Given the description of an element on the screen output the (x, y) to click on. 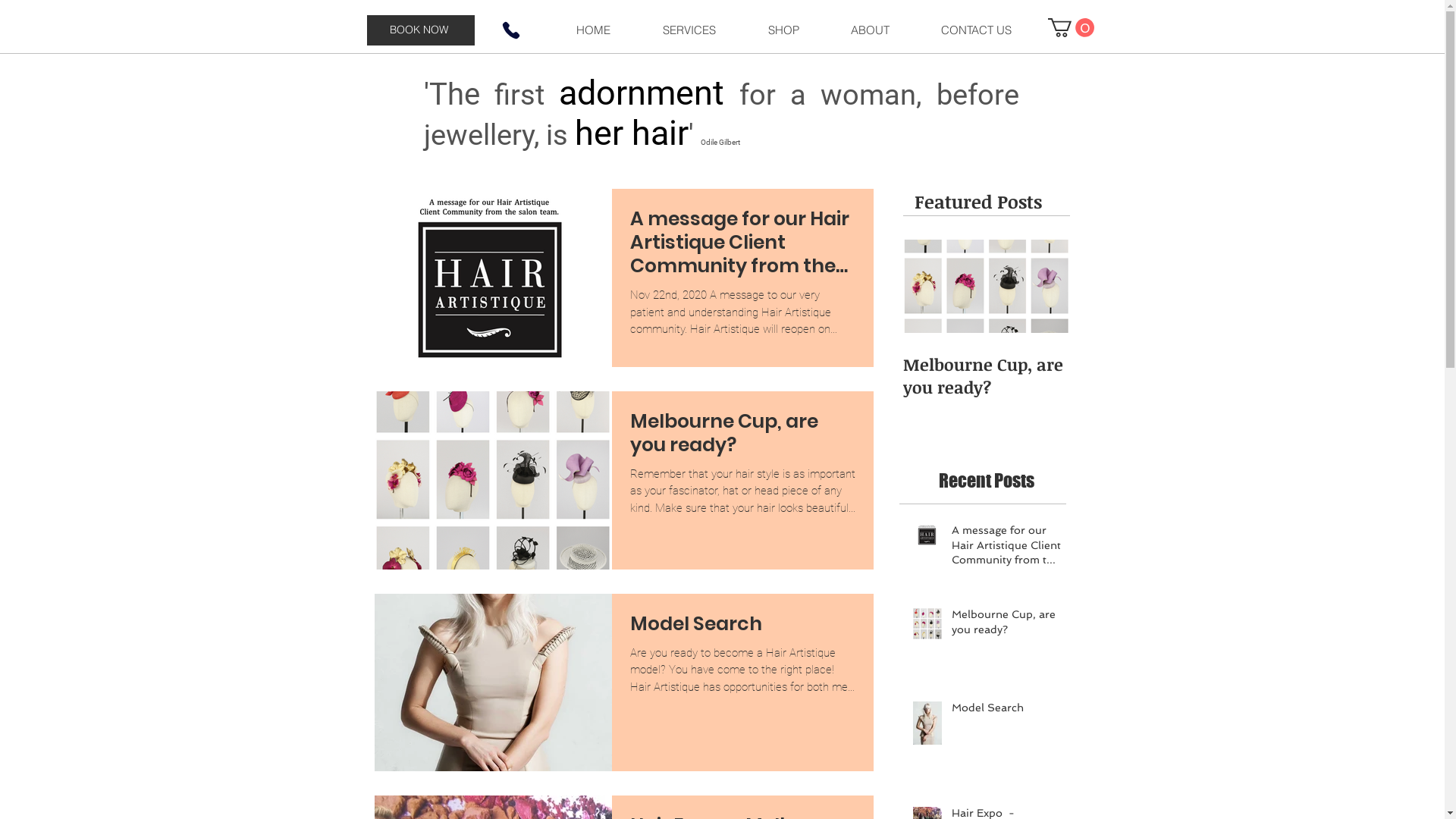
HOME Element type: text (593, 30)
Model Search Element type: text (741, 627)
Melbourne Cup, are you ready? Element type: text (741, 437)
ABOUT Element type: text (870, 30)
0 Element type: text (1071, 27)
Model Search Element type: text (1005, 710)
SERVICES Element type: text (687, 30)
Melbourne Cup, are you ready? Element type: text (985, 375)
CONTACT US Element type: text (975, 30)
SHOP Element type: text (783, 30)
Melbourne Cup, are you ready? Element type: text (1005, 625)
BOOK NOW Element type: text (420, 30)
